Given the description of an element on the screen output the (x, y) to click on. 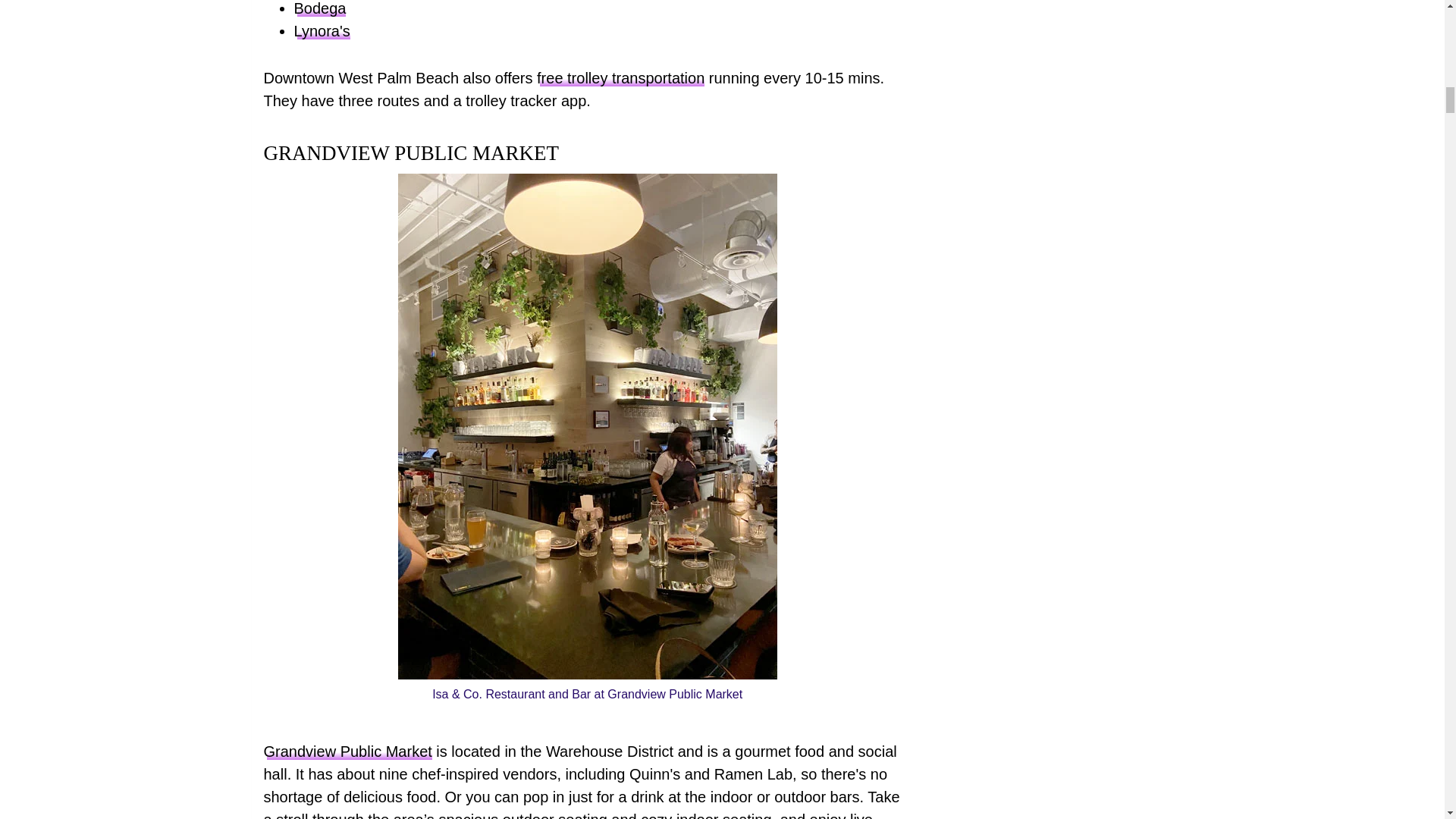
Bodega (320, 8)
Lynora's (322, 30)
free trolley transportation (620, 77)
Grandview Public Market (347, 751)
